Given the description of an element on the screen output the (x, y) to click on. 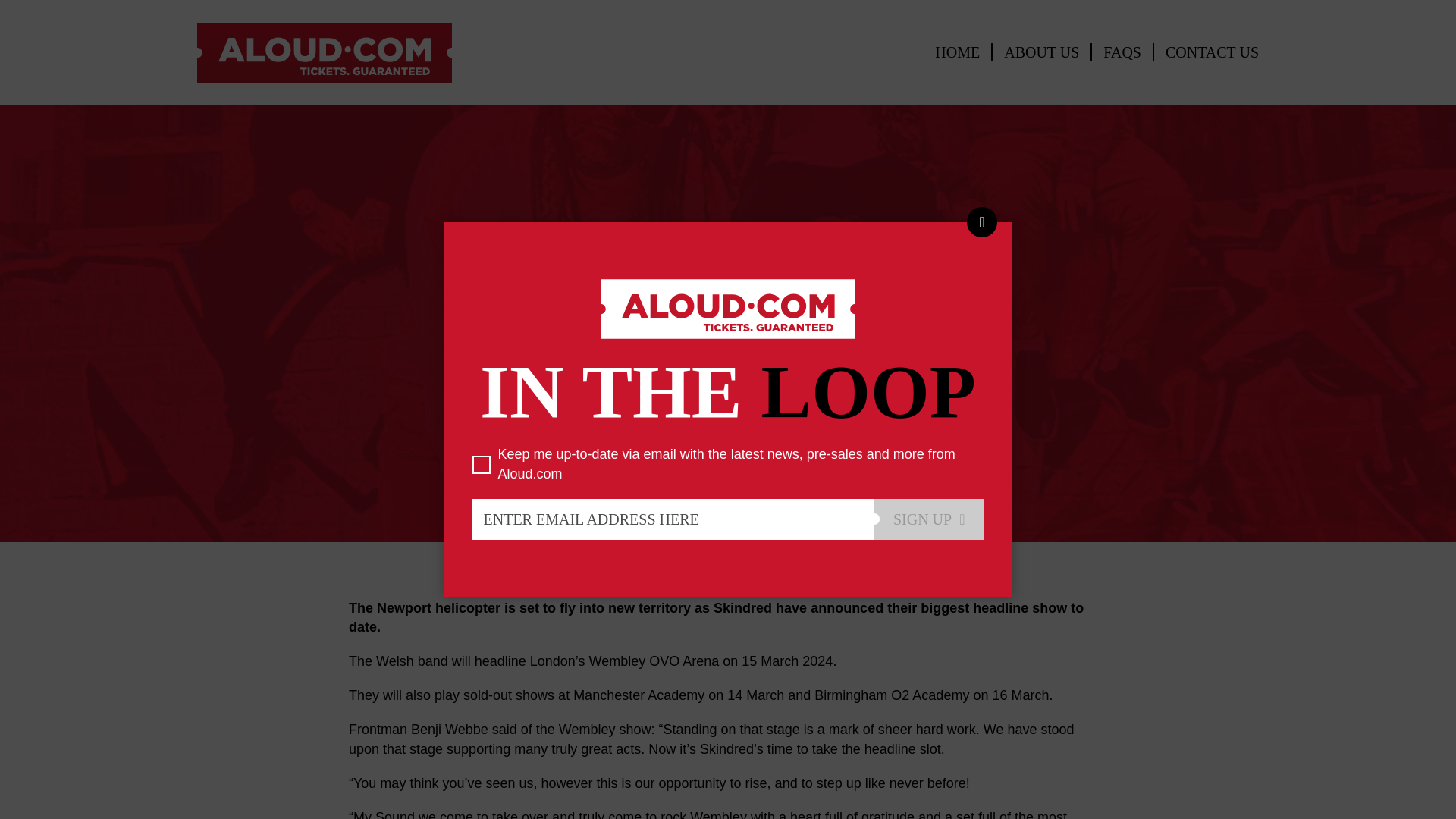
ABOUT US (1041, 52)
FAQS (1122, 52)
HOME (957, 52)
CONTACT US (1211, 52)
